Given the description of an element on the screen output the (x, y) to click on. 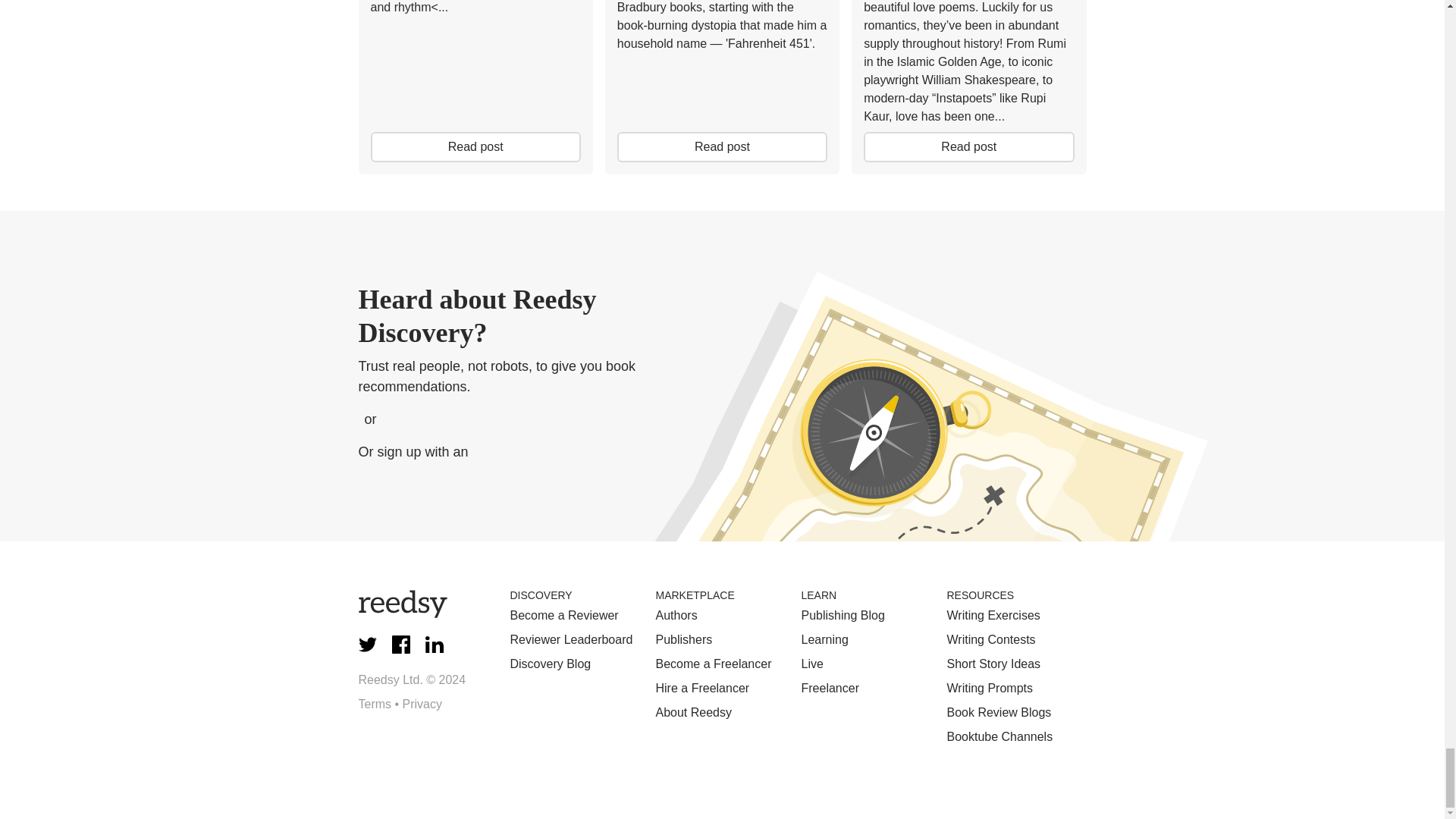
Facebook (400, 644)
LinkedIn (434, 644)
Twitter (366, 644)
